Given the description of an element on the screen output the (x, y) to click on. 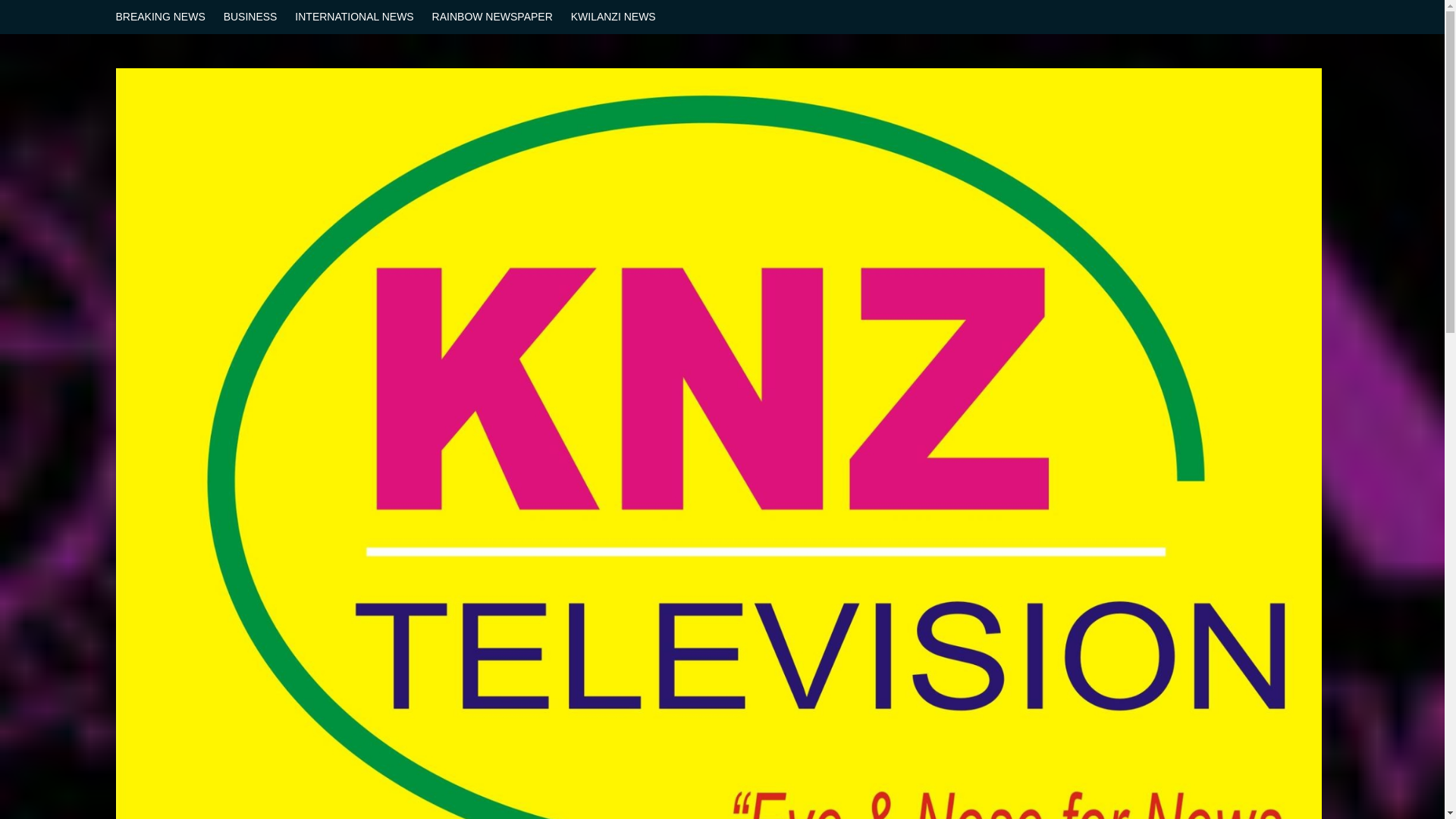
INTERNATIONAL NEWS (353, 17)
RAINBOW NEWSPAPER (492, 17)
BUSINESS (250, 17)
KWILANZI NEWS (613, 17)
BREAKING NEWS (163, 17)
